Given the description of an element on the screen output the (x, y) to click on. 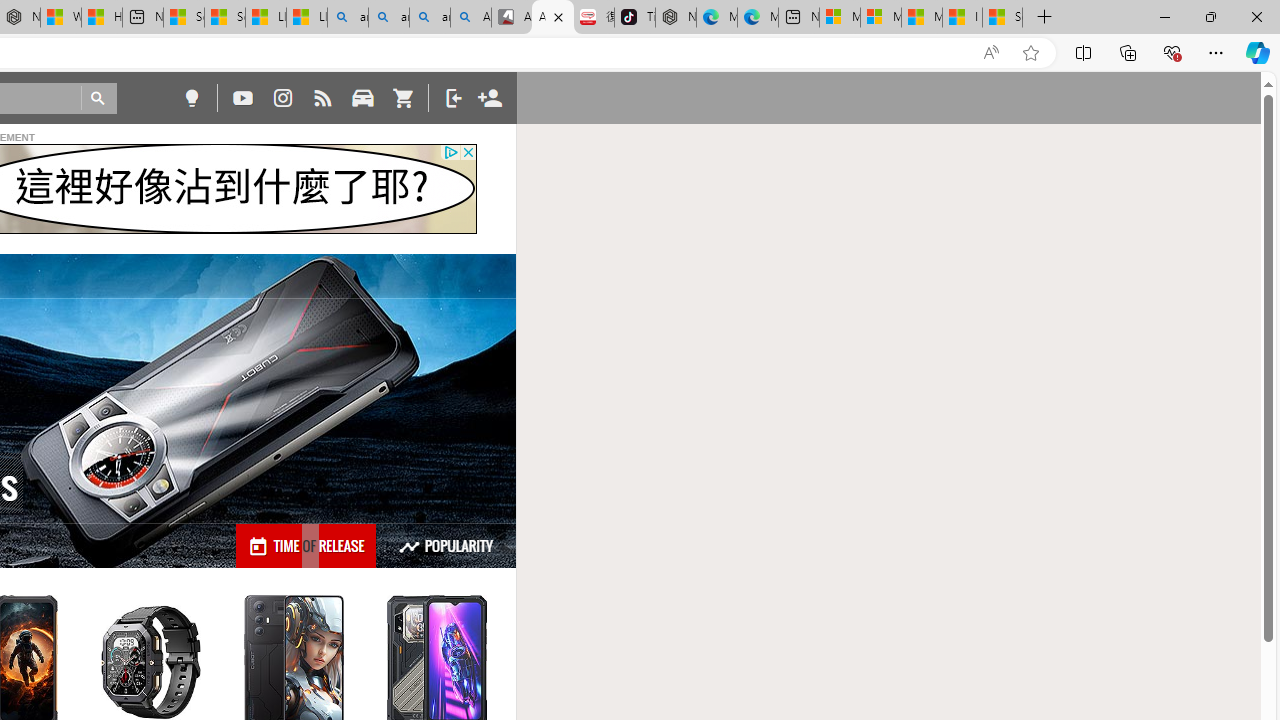
TikTok (634, 17)
AutomationID: close_button_svg (468, 151)
amazon - Search Images (429, 17)
I Gained 20 Pounds of Muscle in 30 Days! | Watch (962, 17)
Microsoft account | Privacy (881, 17)
Nordace - Best Sellers (675, 17)
